Given the description of an element on the screen output the (x, y) to click on. 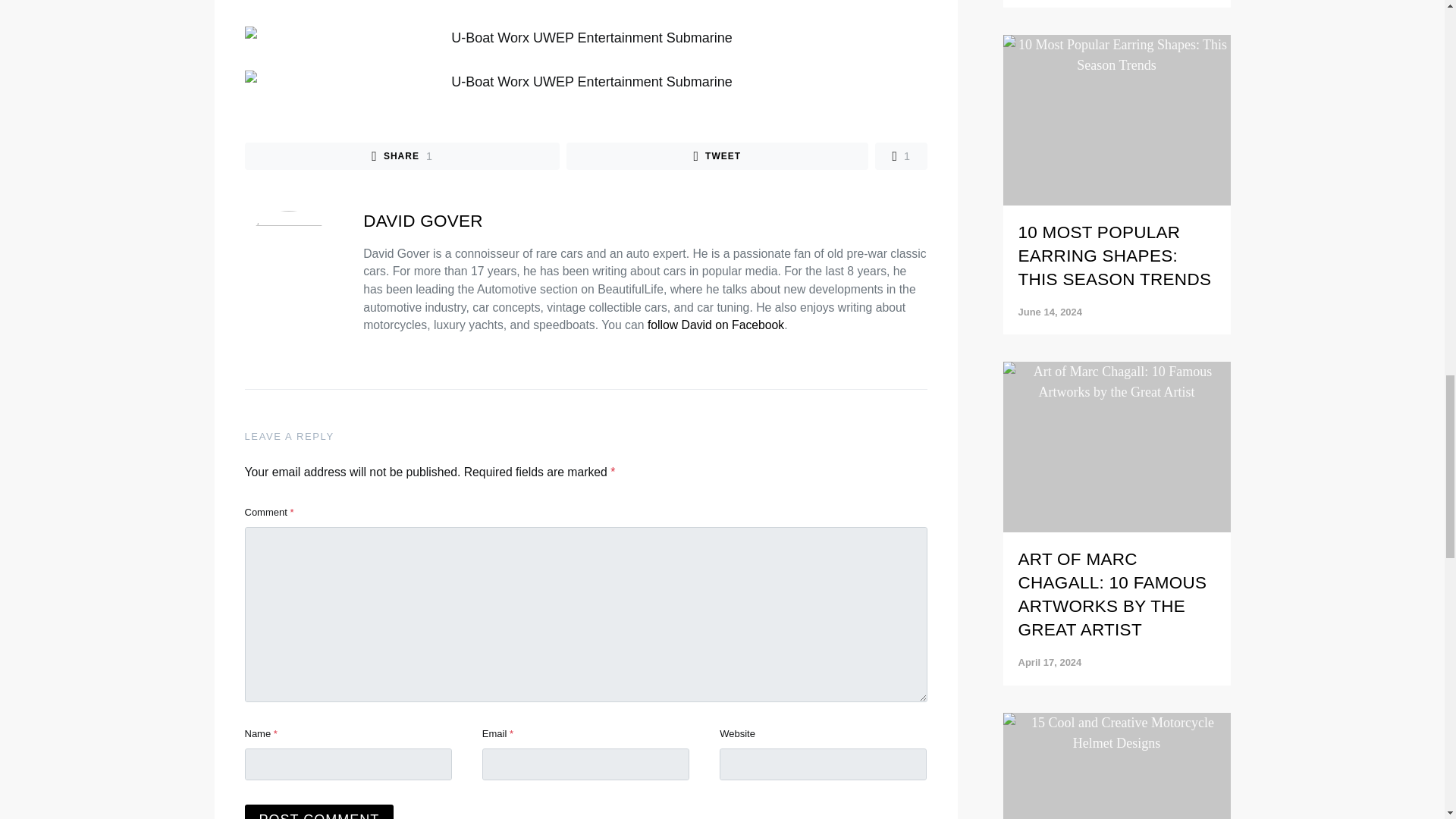
Post Comment (318, 811)
U-Boat Worx UWEP Entertainment Submarine (585, 82)
DAVID GOVER (422, 220)
15 Cool and Creative Motorcycle Helmet Designs (401, 155)
Art of Marc Chagall: 10 Famous Artworks by the Great Artist (1116, 161)
1 (1112, 1)
Post Comment (901, 155)
U-Boat Worx UWEP Entertainment Submarine (318, 811)
TWEET (585, 38)
follow David on Facebook (716, 155)
